Given the description of an element on the screen output the (x, y) to click on. 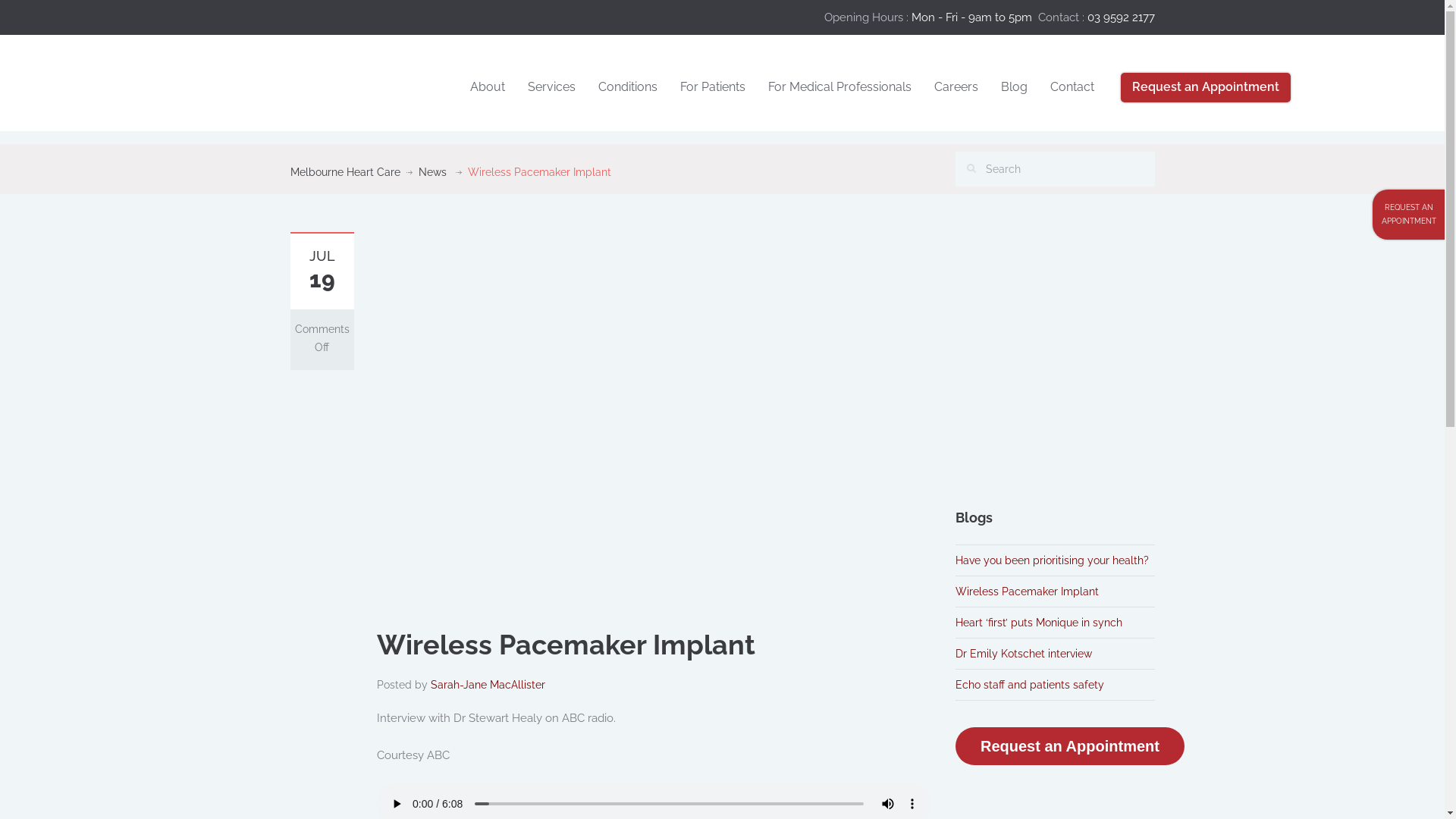
Sarah-Jane MacAllister Element type: text (487, 684)
Careers Element type: text (955, 87)
Dr Emily Kotschet interview Element type: text (1023, 653)
03 9592 2177 Element type: text (1120, 17)
For Patients Element type: text (712, 87)
News Element type: text (432, 171)
Blog Element type: text (1013, 87)
Have you been prioritising your health? Element type: text (1051, 560)
Conditions Element type: text (627, 87)
REQUEST AN APPOINTMENT Element type: text (1408, 214)
For Medical Professionals Element type: text (839, 87)
Contact Element type: text (1071, 87)
Request an Appointment Element type: text (1069, 746)
Melbourne Heart Care Element type: text (344, 171)
Wireless Pacemaker Implant Element type: text (1026, 591)
Echo staff and patients safety Element type: text (1029, 684)
Request an Appointment Element type: text (1205, 87)
About Element type: text (487, 87)
Services Element type: text (551, 87)
Wireless Pacemaker Implant Element type: hover (630, 420)
